Given the description of an element on the screen output the (x, y) to click on. 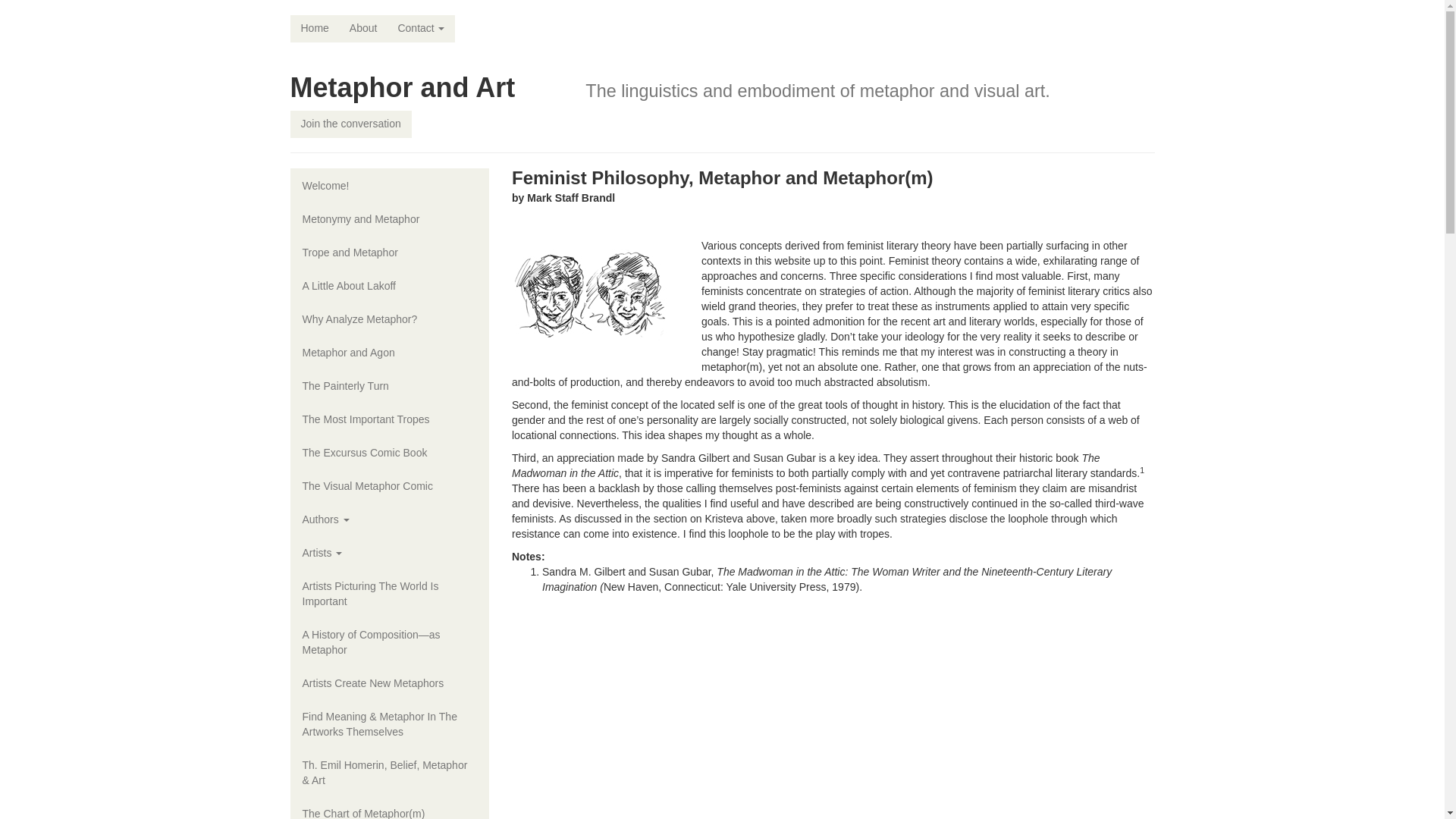
Home (314, 28)
The Painterly Turn (389, 385)
About (363, 28)
The Visual Metaphor Comic (389, 485)
Artists Create New Metaphors (389, 683)
Artists Picturing The World Is Important (389, 593)
Metaphor and Agon (389, 352)
Why Analyze Metaphor? (389, 318)
Join the conversation (349, 124)
A Little About Lakoff (389, 285)
